Given the description of an element on the screen output the (x, y) to click on. 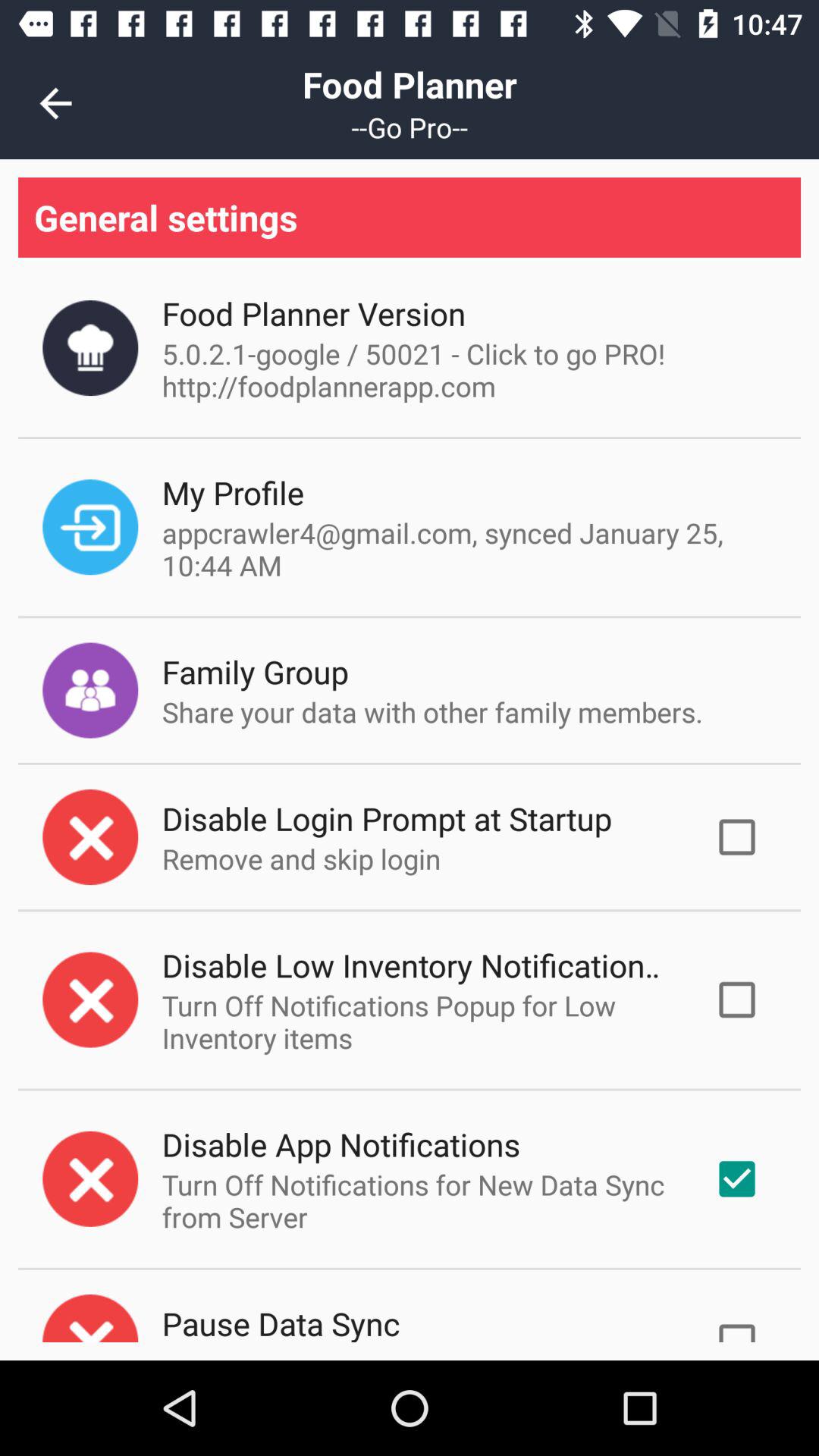
flip to family group (255, 671)
